Given the description of an element on the screen output the (x, y) to click on. 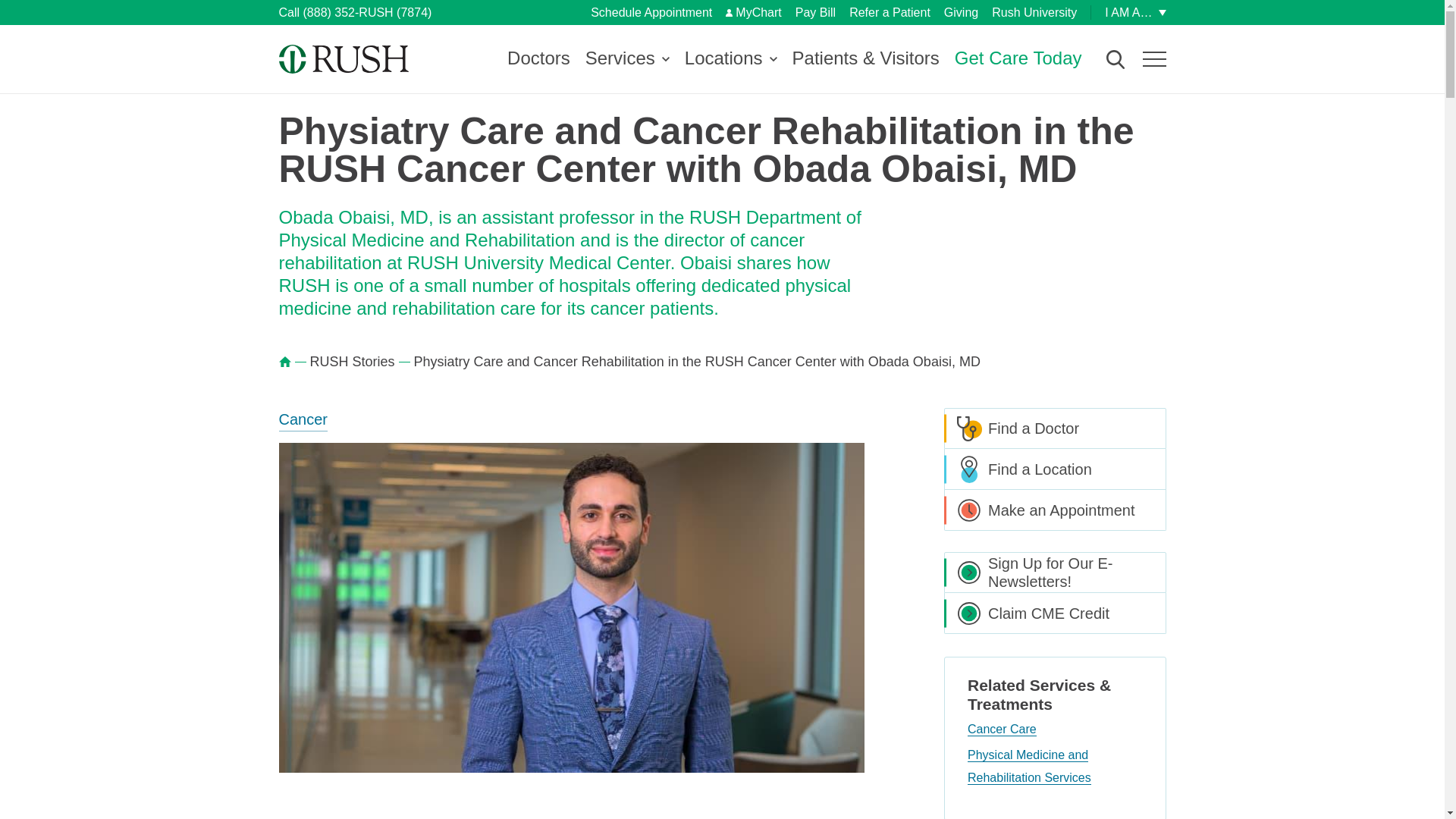
Refer a Patient (889, 11)
Rush University (1034, 11)
Schedule Appointment (651, 11)
MyChart (752, 11)
Pay Bill (814, 11)
Giving (960, 11)
